Given the description of an element on the screen output the (x, y) to click on. 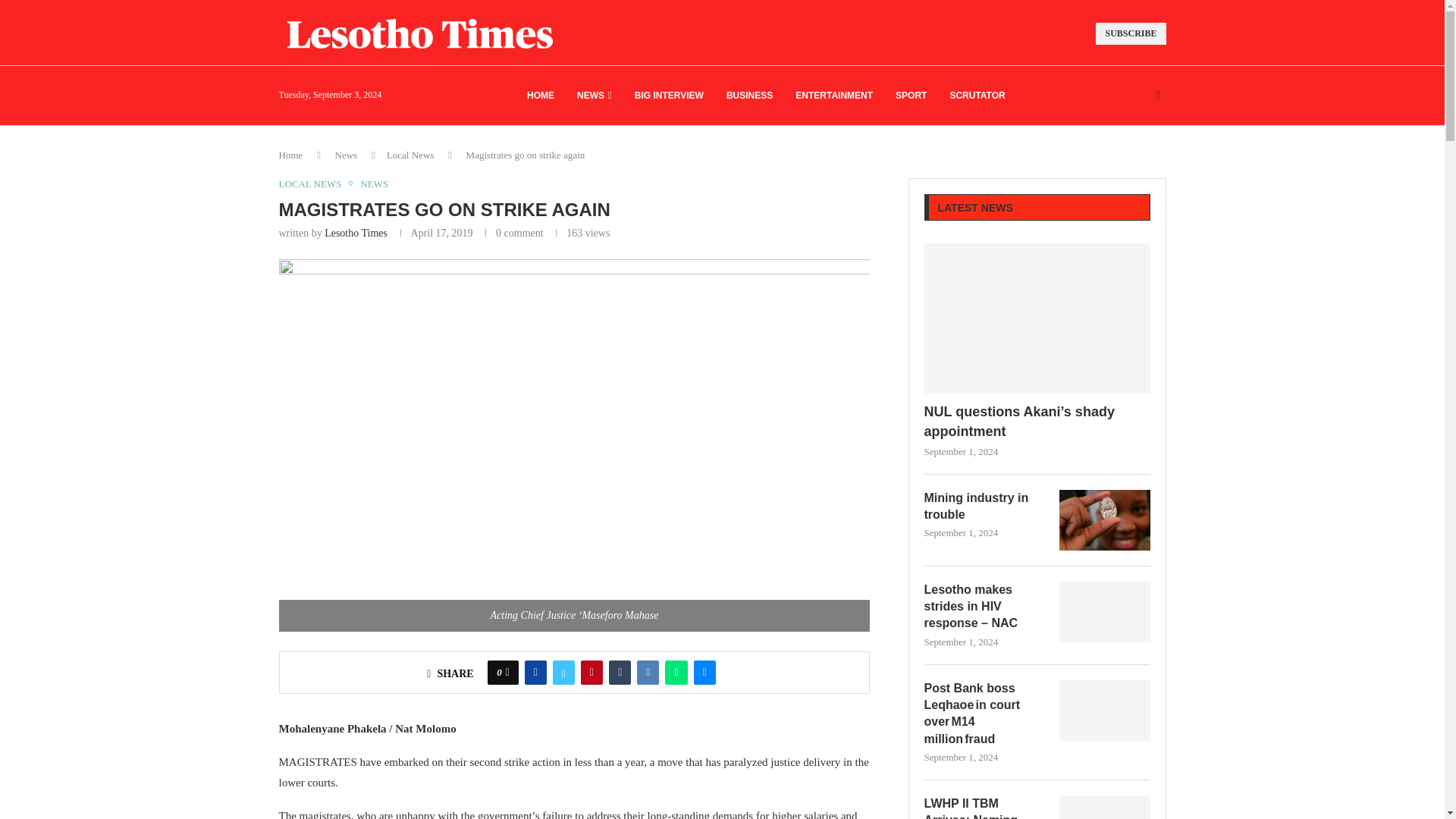
SUBSCRIBE (1131, 33)
SCRUTATOR (976, 95)
ENTERTAINMENT (833, 95)
BIG INTERVIEW (668, 95)
BUSINESS (749, 95)
